Given the description of an element on the screen output the (x, y) to click on. 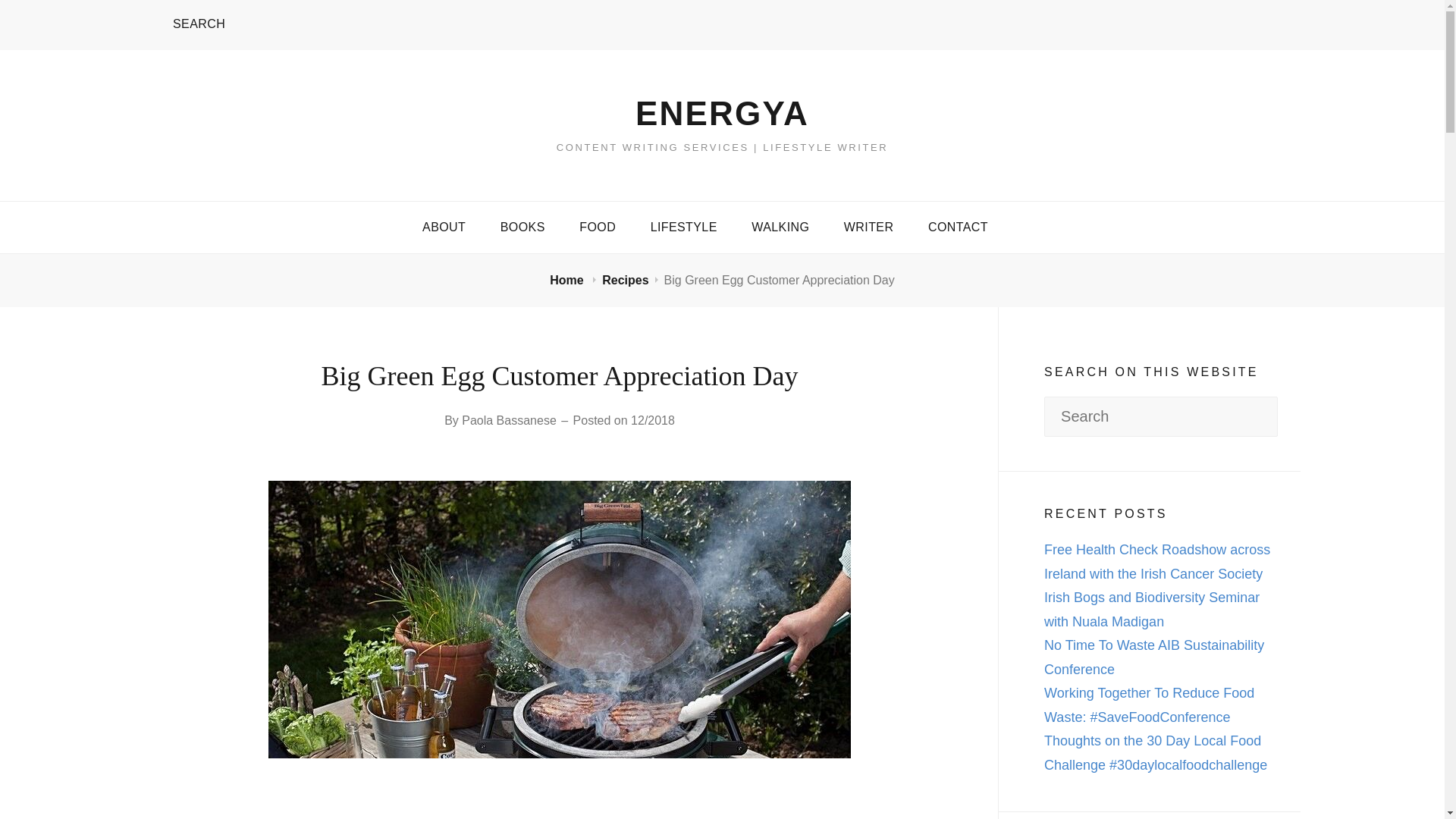
FOOD (597, 227)
WALKING (780, 227)
ENERGYA (721, 113)
ABOUT (443, 227)
WRITER (868, 227)
No Time To Waste AIB Sustainability Conference (1153, 657)
Recipes (624, 279)
Home (568, 279)
LIFESTYLE (683, 227)
Irish Bogs and Biodiversity Seminar with Nuala Madigan (1151, 609)
